Given the description of an element on the screen output the (x, y) to click on. 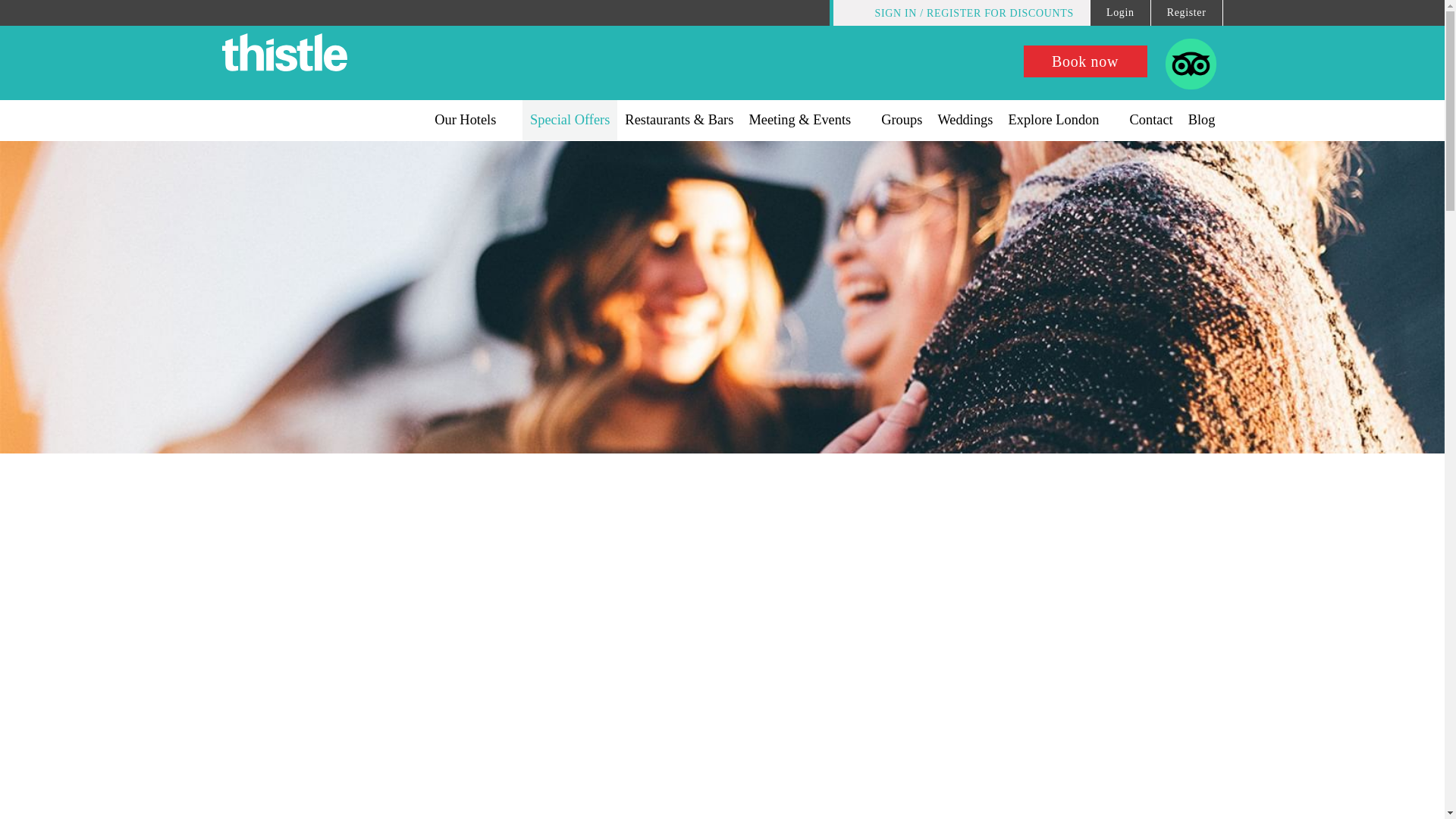
Weddings (965, 119)
Book now (1085, 60)
Hotel Logo (283, 54)
Special Offers (569, 119)
Tripadvisor Logo (1190, 91)
Explore London (1060, 119)
Groups (901, 119)
Register (1187, 12)
Our Hotels (472, 119)
Login (1120, 12)
